Given the description of an element on the screen output the (x, y) to click on. 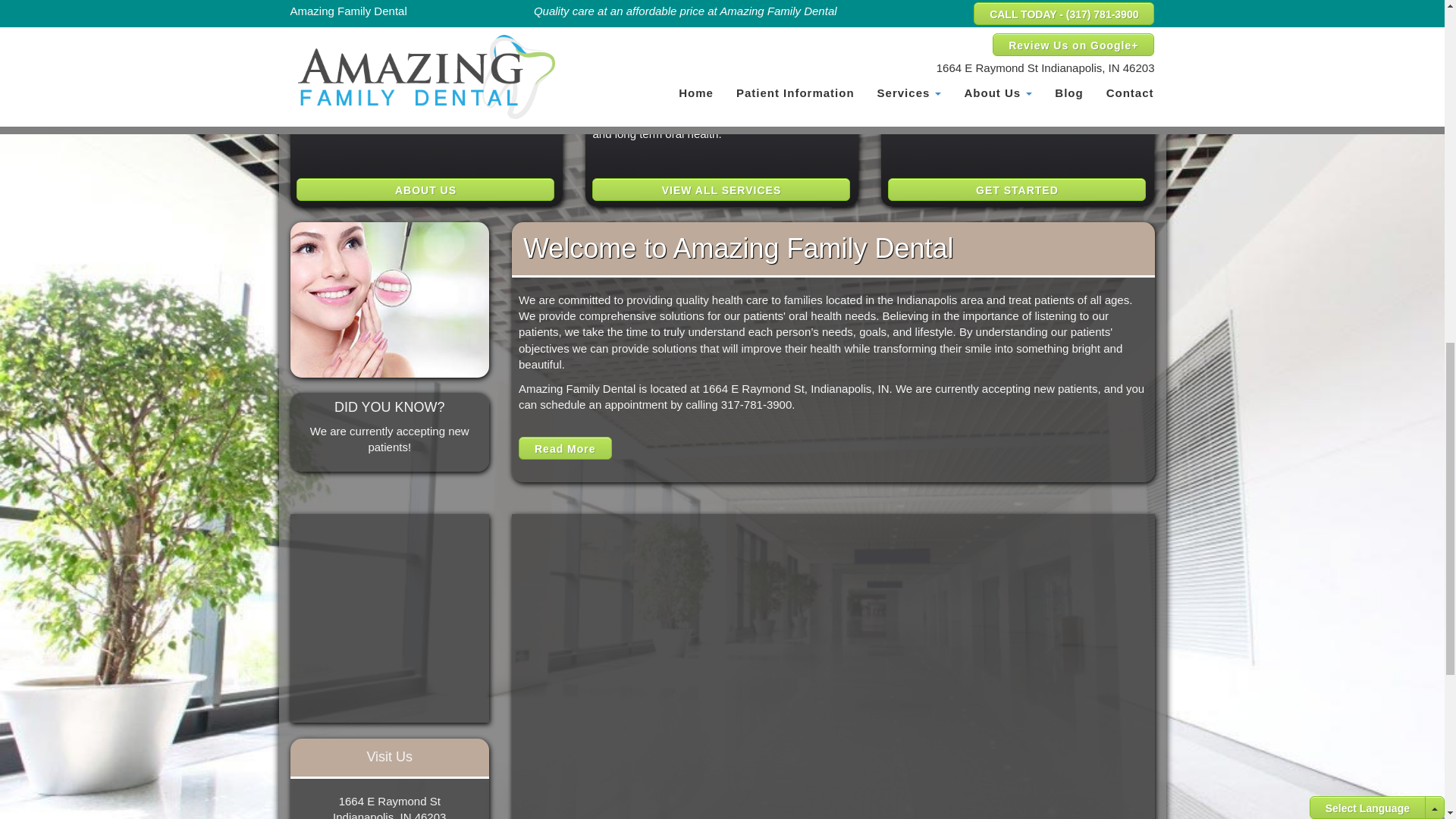
Emergency Dentist Near Me (663, 2)
